Given the description of an element on the screen output the (x, y) to click on. 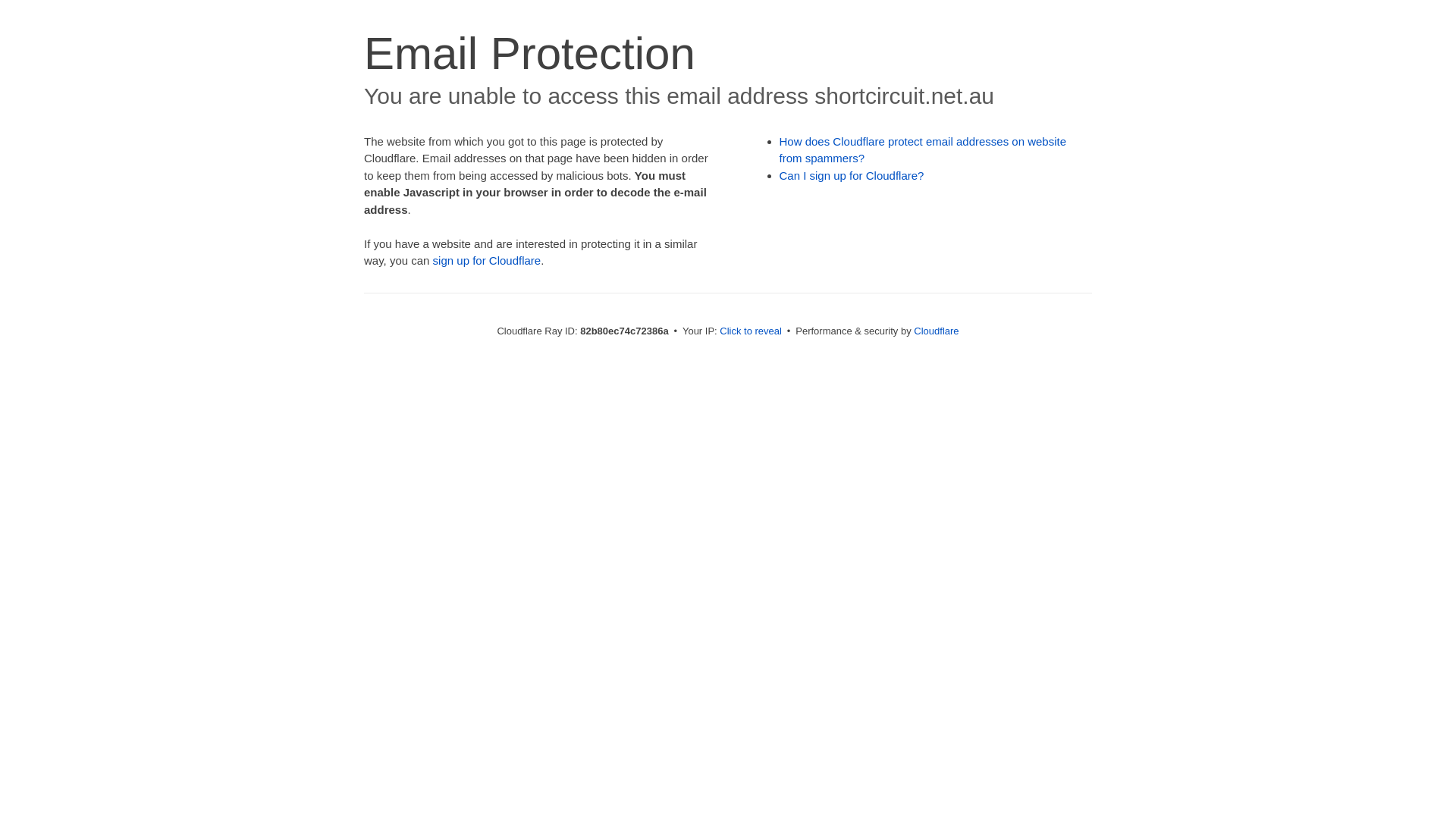
sign up for Cloudflare Element type: text (487, 260)
Click to reveal Element type: text (750, 330)
Cloudflare Element type: text (935, 330)
Can I sign up for Cloudflare? Element type: text (851, 175)
